Given the description of an element on the screen output the (x, y) to click on. 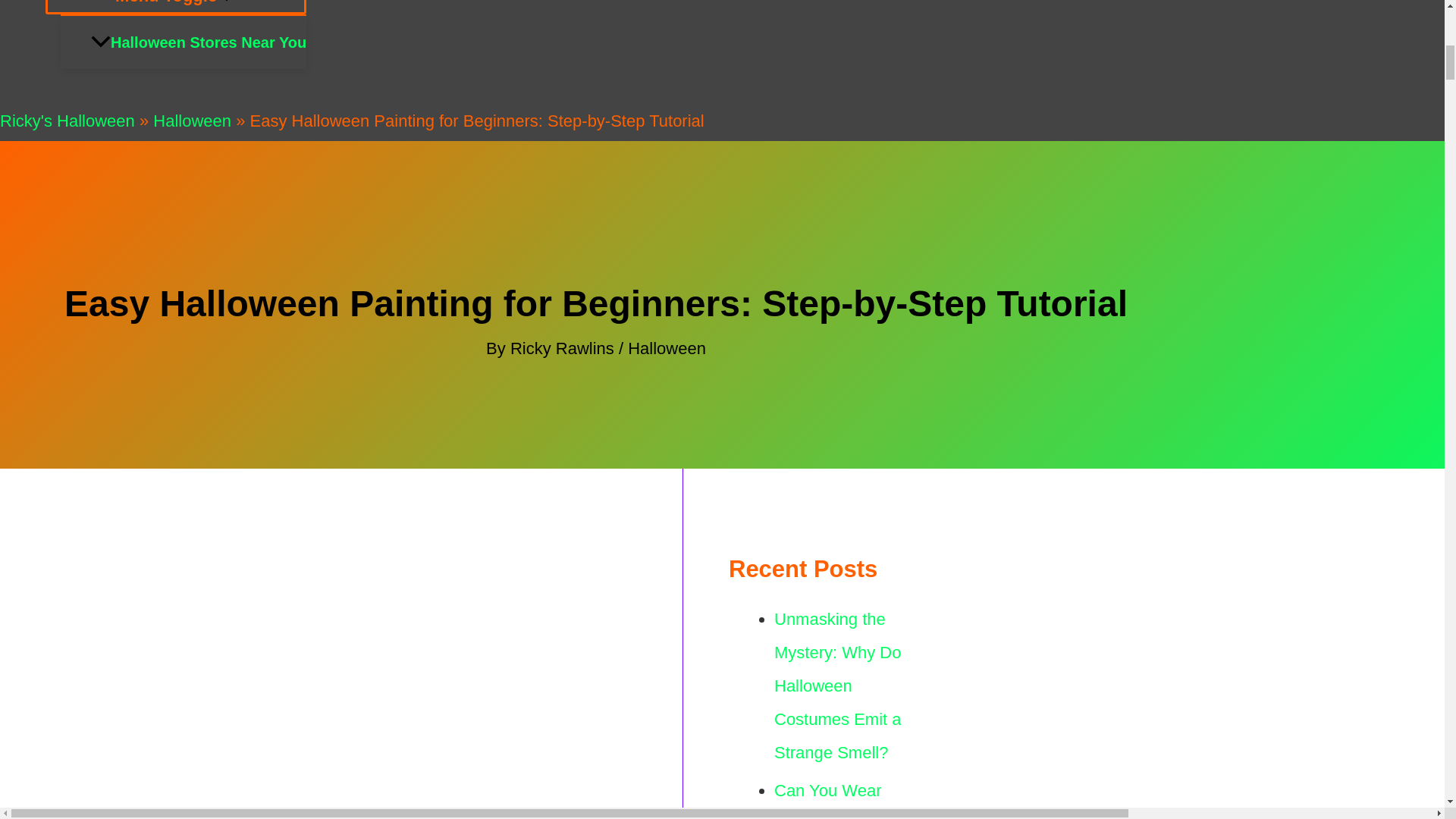
Halloween Stores Near You (197, 41)
View all posts by Ricky Rawlins (564, 348)
Halloween (191, 120)
Menu Toggle (175, 7)
Ricky's Halloween (67, 120)
